Given the description of an element on the screen output the (x, y) to click on. 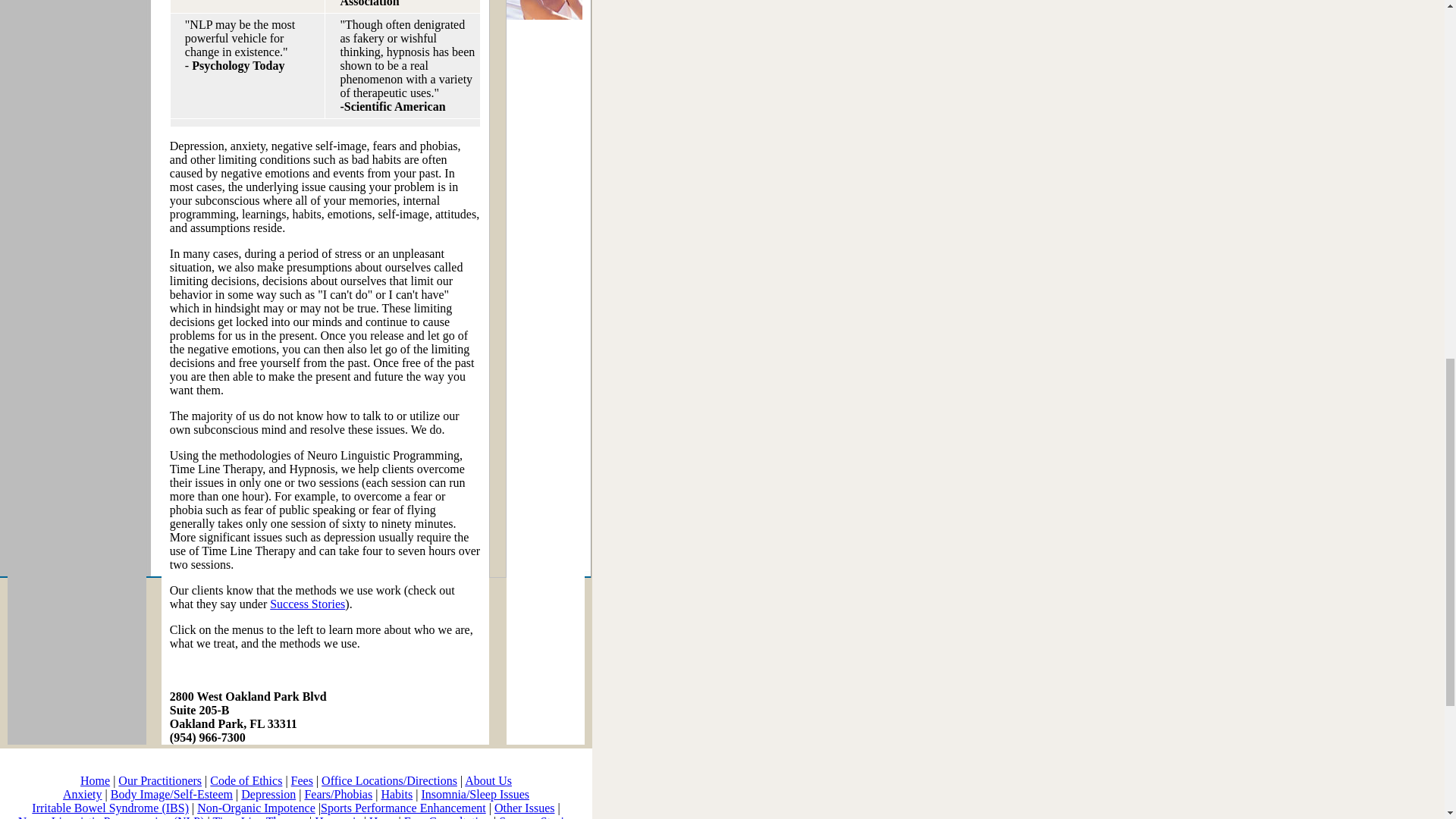
Anxiety (81, 793)
Free Consultation (445, 816)
Non-Organic Impotence (255, 807)
Code of Ethics (245, 780)
Our Practitioners (159, 780)
Time Line Therapy (258, 816)
Home (95, 780)
Other Issues (524, 807)
Habits (396, 793)
Fees (302, 780)
Huna (382, 816)
Sports Performance Enhancement (403, 807)
Success Stories (536, 816)
Depression (268, 793)
Success Stories (307, 603)
